Given the description of an element on the screen output the (x, y) to click on. 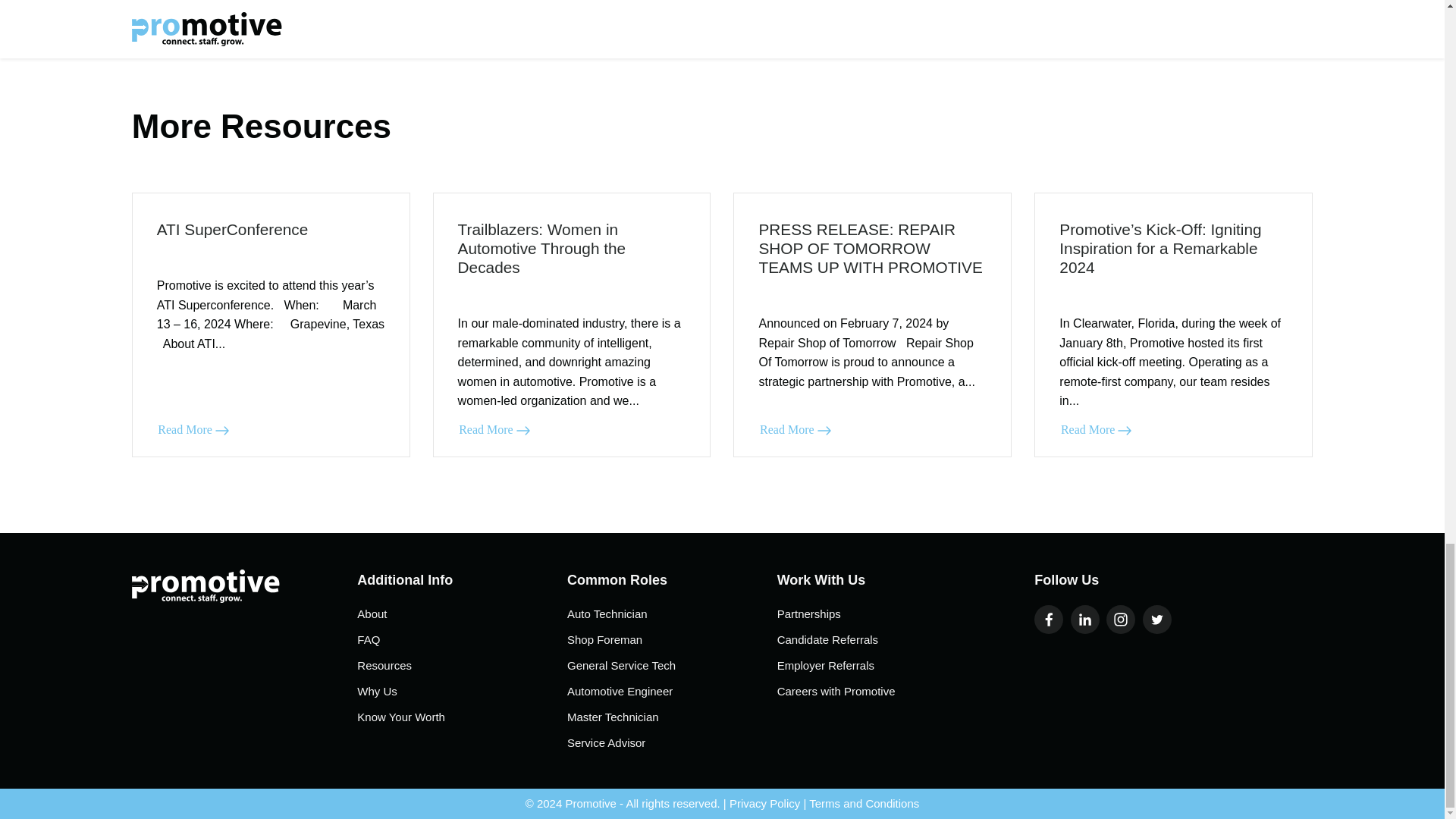
Privacy Policy (764, 802)
Partnerships (882, 614)
Auto Technician (672, 614)
Employer Referrals (882, 665)
Know Your Worth (461, 717)
Read More (192, 429)
Why Us (461, 691)
Read More (795, 429)
Service Advisor (672, 742)
Read More (493, 429)
FAQ (461, 639)
Read More (1096, 429)
Resources (461, 665)
General Service Tech (672, 665)
Shop Foreman (672, 639)
